Given the description of an element on the screen output the (x, y) to click on. 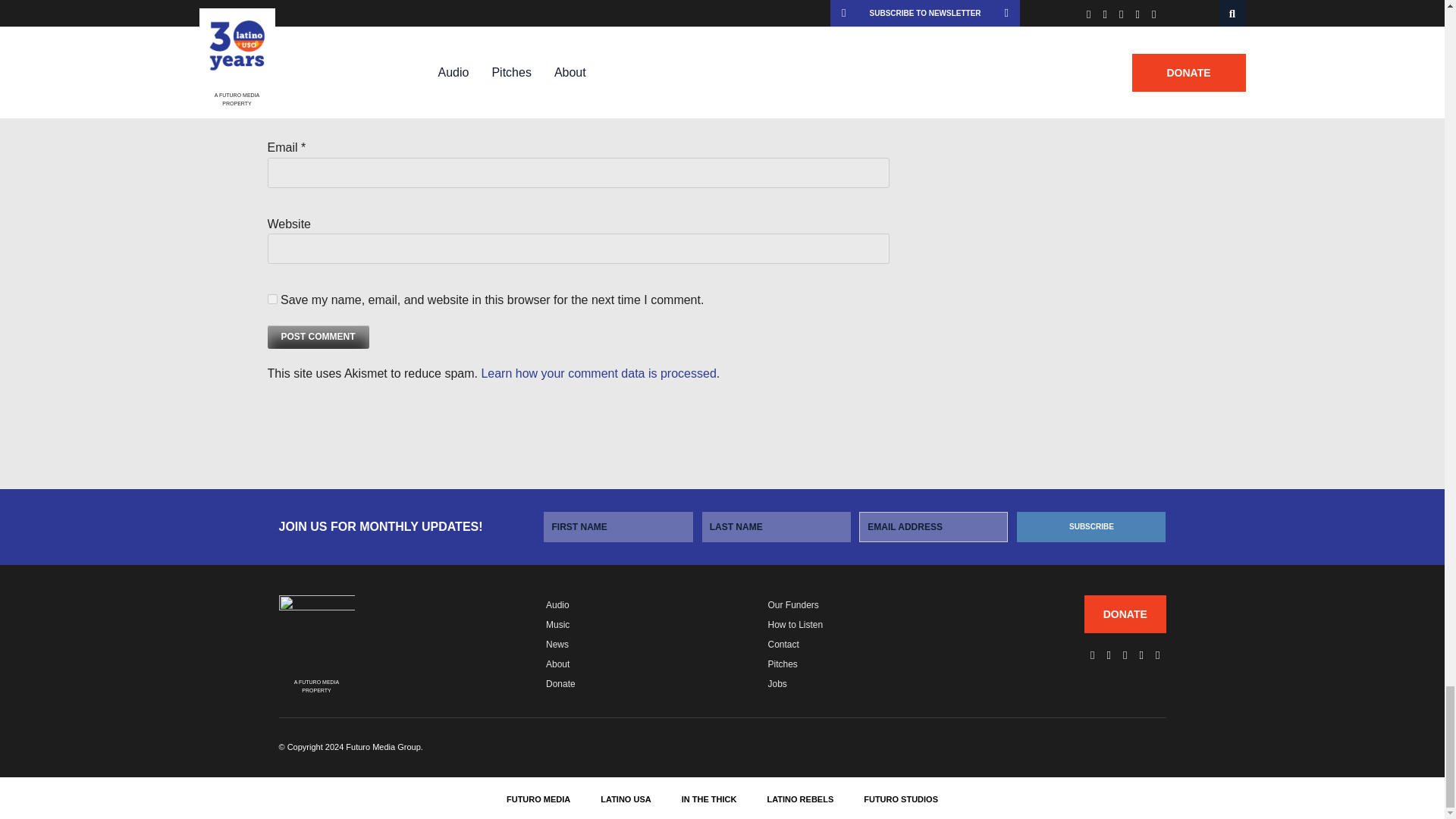
yes (271, 298)
Post Comment (317, 336)
Subscribe (1091, 526)
